Given the description of an element on the screen output the (x, y) to click on. 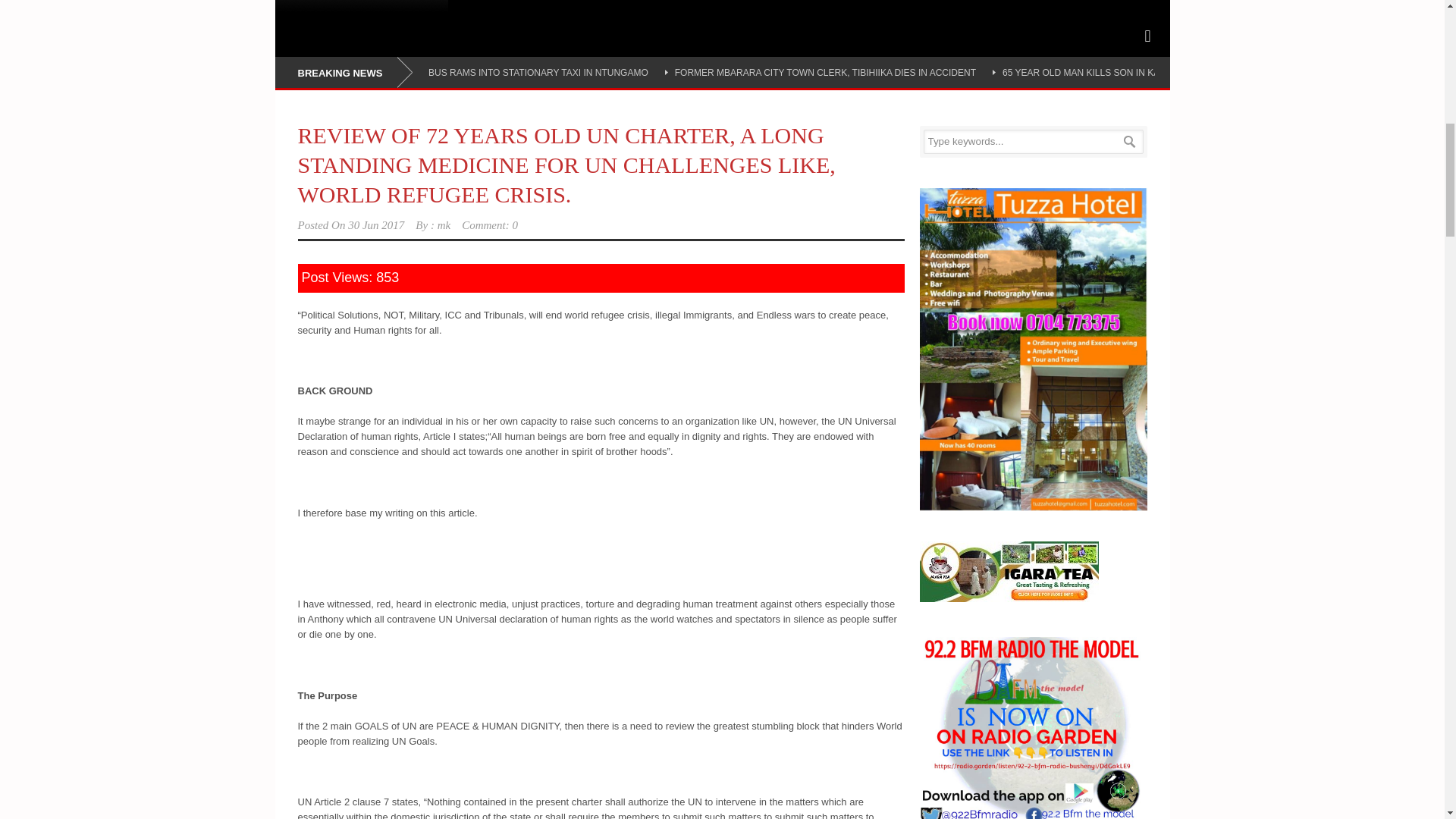
65 YEAR OLD MAN KILLS SON IN KASHARI OVER 2 ACRE FAMILY LAND (1157, 72)
SPORTS (309, 6)
Comment: 0 (489, 224)
30 Jun 2017 (375, 224)
Posts by mk (444, 224)
AGRICULTURE (395, 6)
mk (444, 224)
SEVERAL DEAD AS BUS RAMS INTO STATIONARY TAXI IN NTUNGAMO (494, 72)
FORMER MBARARA CITY TOWN CLERK, TIBIHIIKA DIES IN ACCIDENT (825, 72)
Type keywords... (1032, 141)
